Given the description of an element on the screen output the (x, y) to click on. 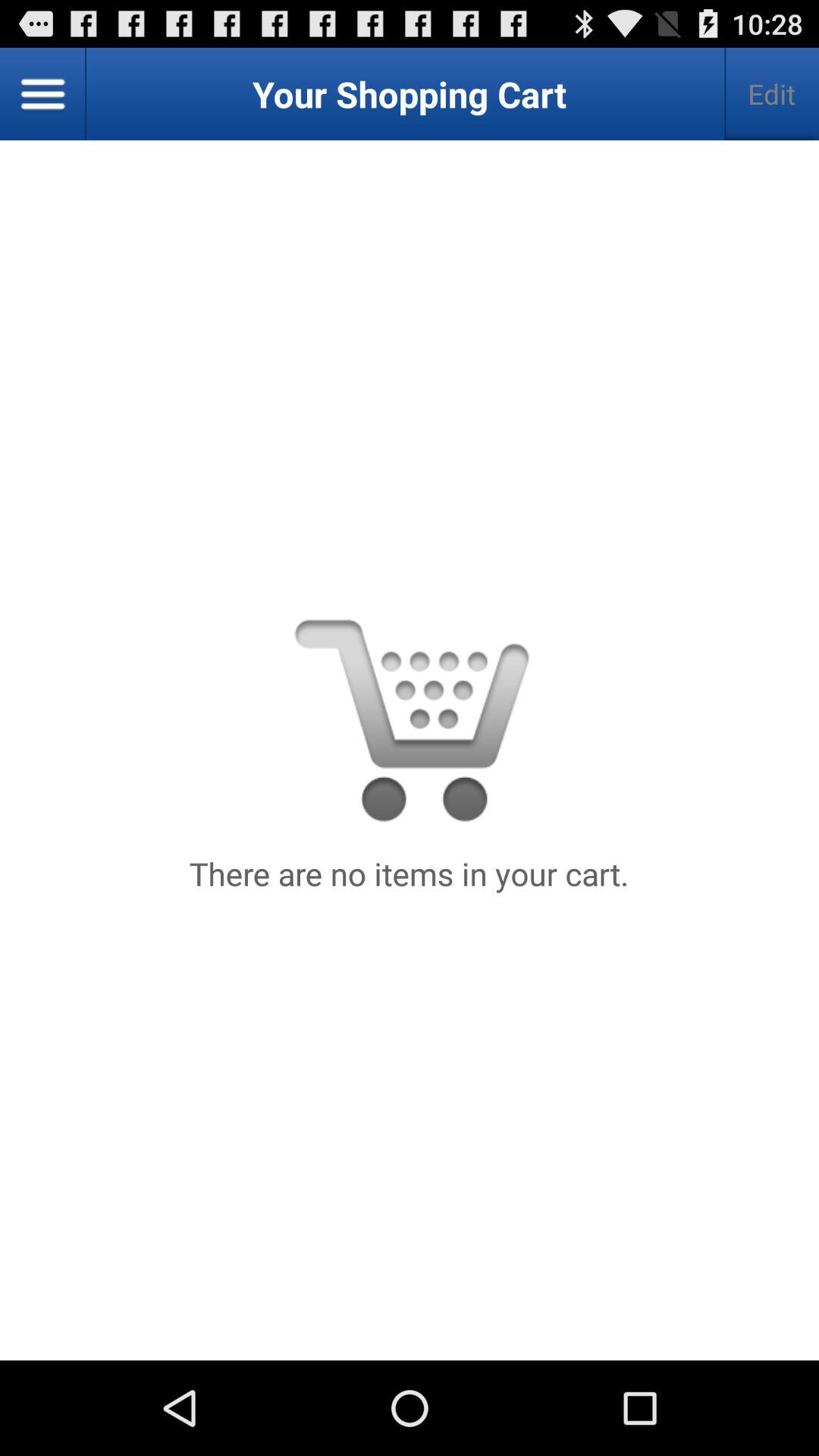
launch edit (771, 93)
